Given the description of an element on the screen output the (x, y) to click on. 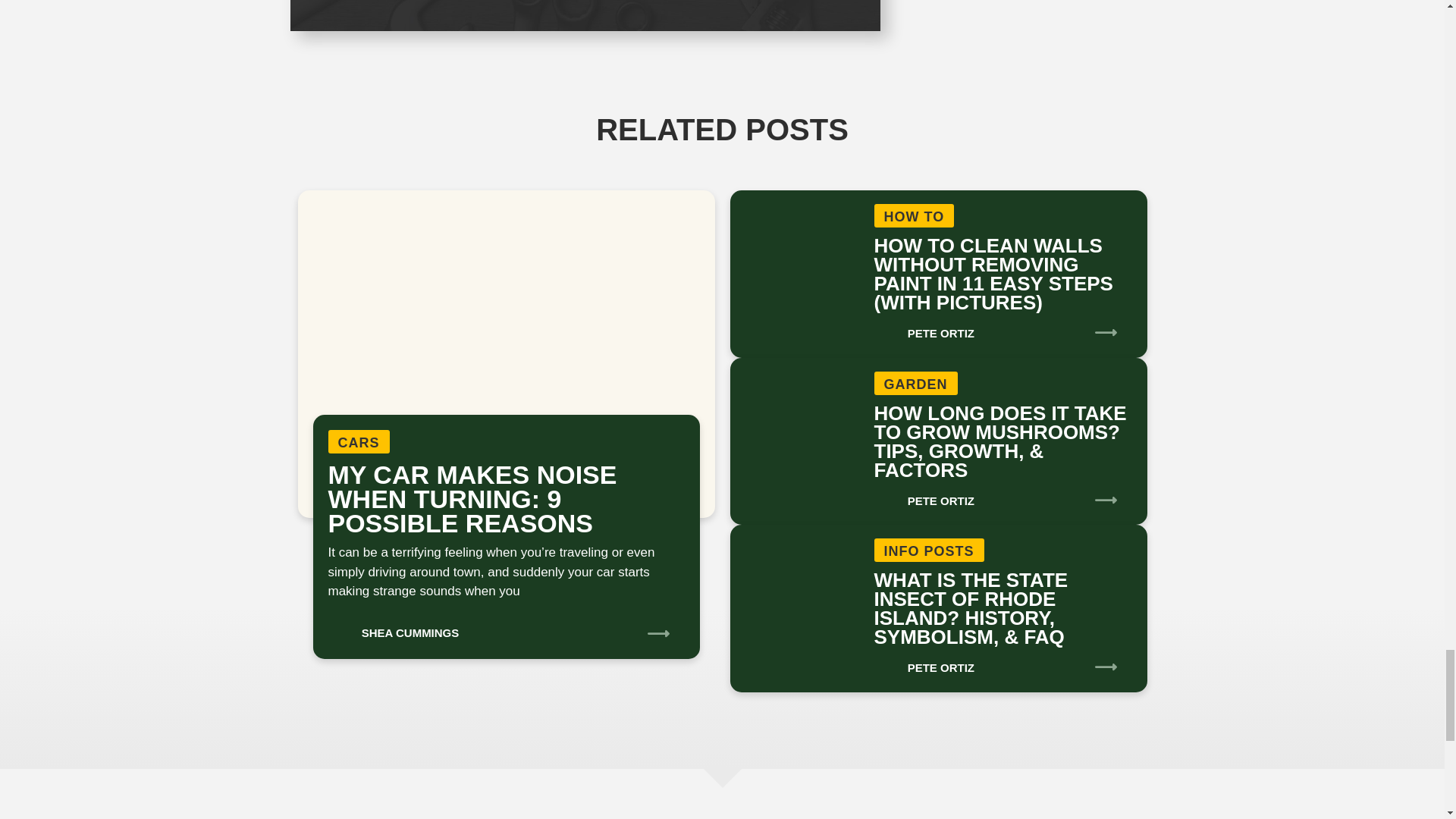
PETE ORTIZ (923, 327)
PETE ORTIZ (923, 495)
SHEA CUMMINGS (392, 627)
PETE ORTIZ (923, 662)
